Given the description of an element on the screen output the (x, y) to click on. 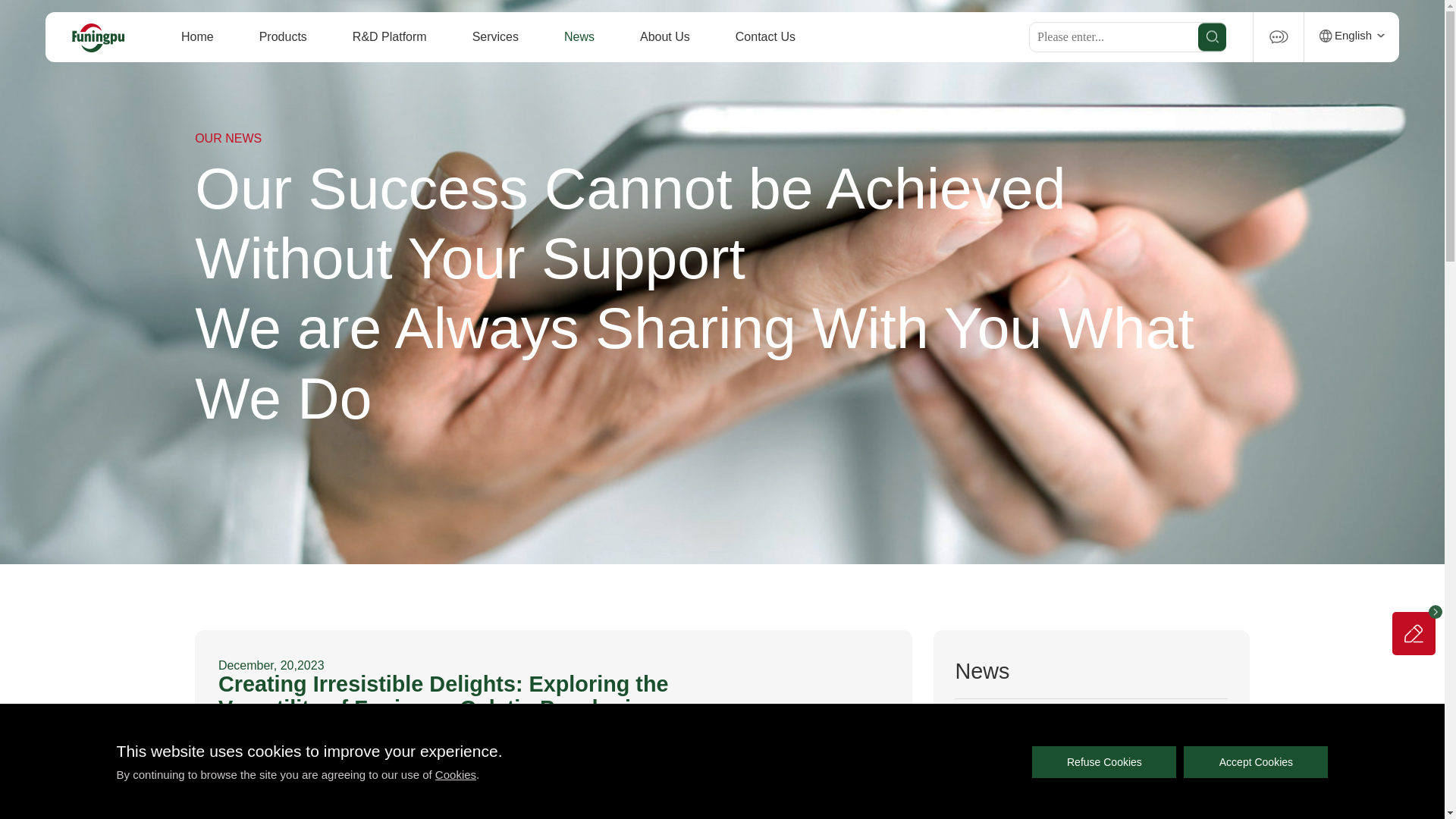
Services (494, 37)
Products (283, 37)
